Given the description of an element on the screen output the (x, y) to click on. 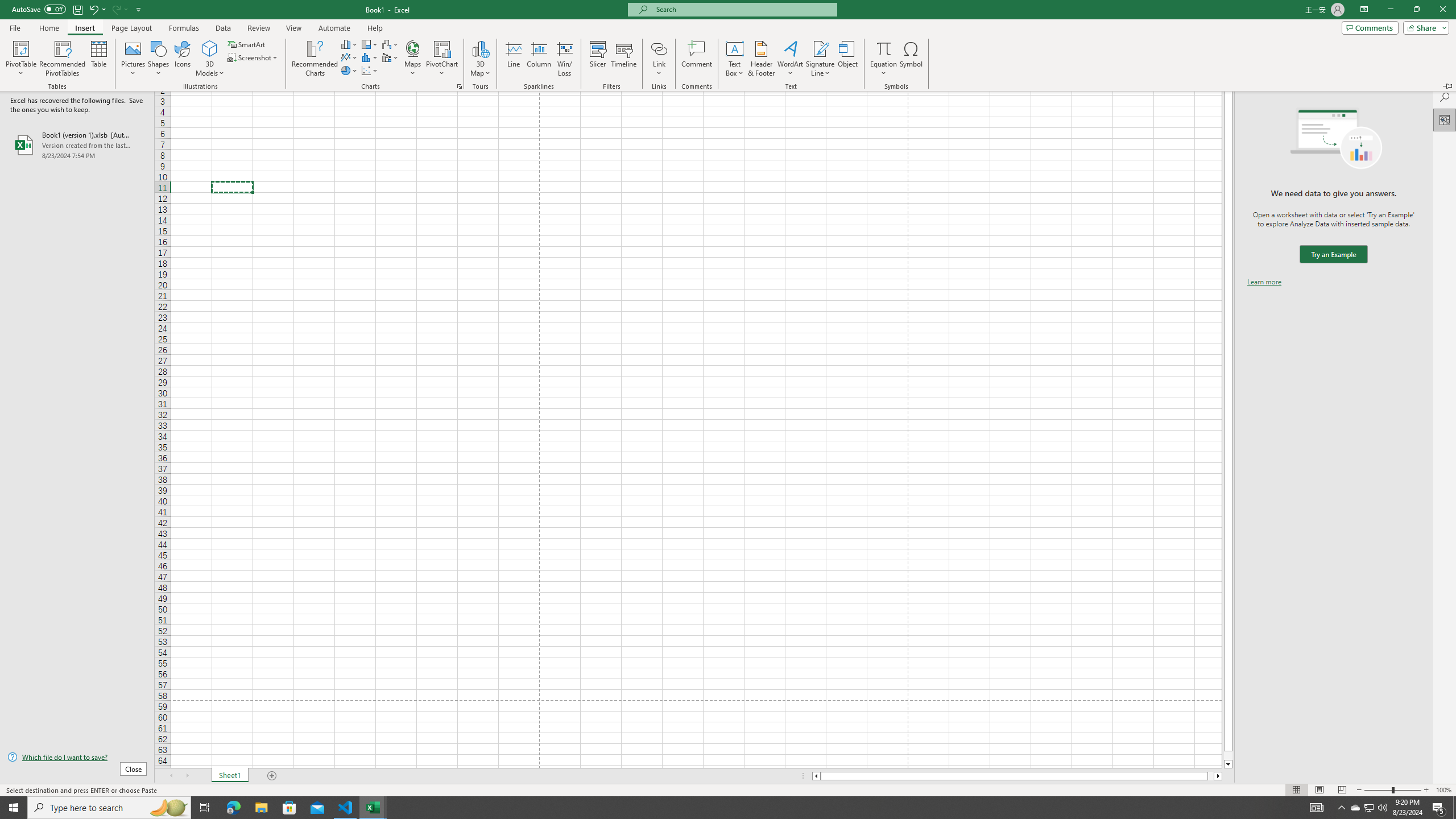
File Tab (15, 27)
Ribbon Display Options (1364, 9)
Line down (1228, 764)
Microsoft search (742, 9)
Sheet1 (229, 775)
Search highlights icon opens search home window (167, 807)
Book1 (version 1).xlsb  [AutoRecovered] (77, 144)
Class: MsoCommandBar (728, 789)
Scroll Left (171, 775)
Show desktop (1454, 807)
Which file do I want to save? (77, 757)
Minimize (1390, 9)
Close (1442, 9)
